Given the description of an element on the screen output the (x, y) to click on. 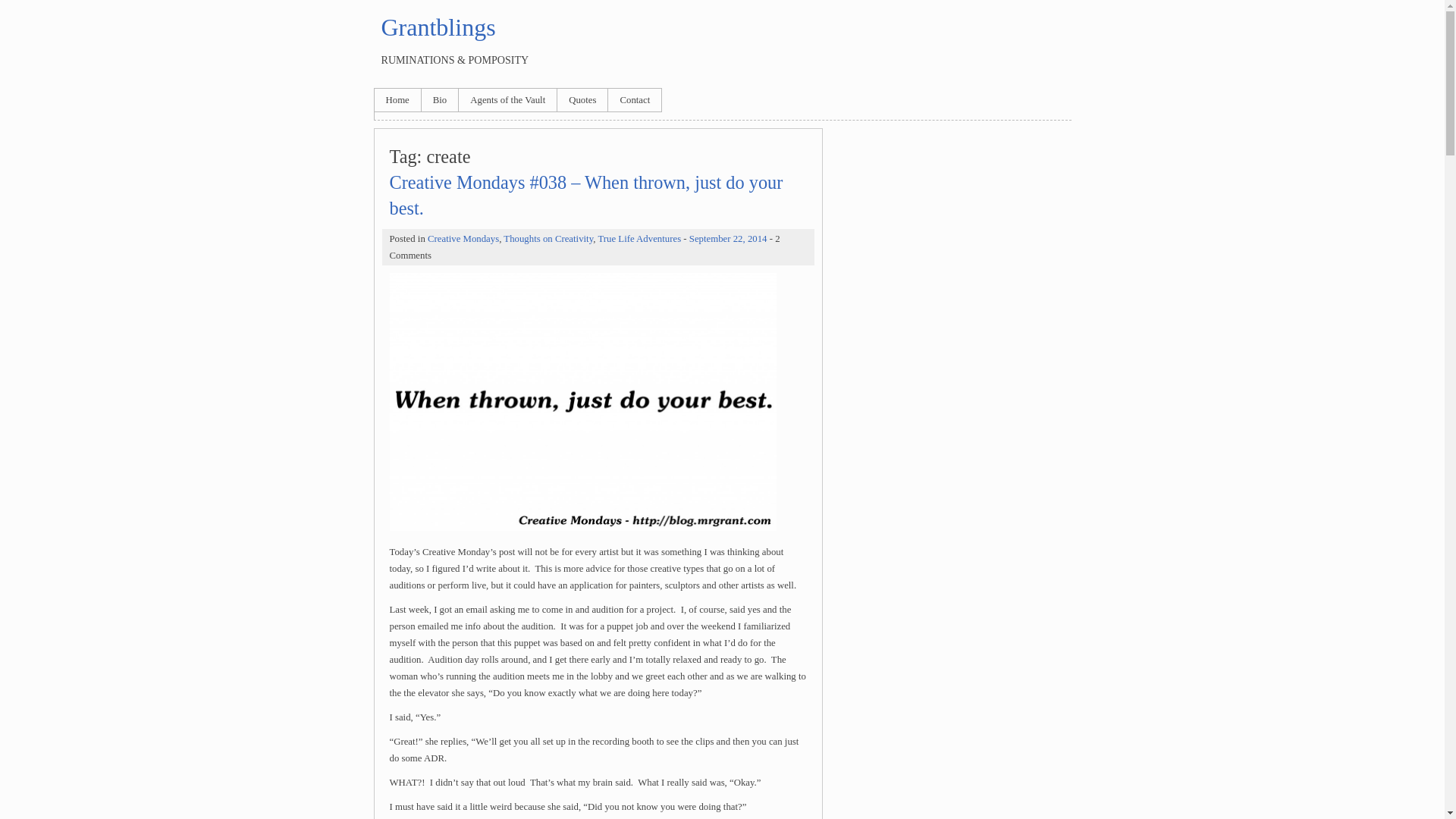
Quotes (582, 99)
True Life Adventures (638, 238)
Agents of the Vault (507, 99)
Thoughts on Creativity (547, 238)
Grantblings (437, 26)
Home (397, 99)
Contact (634, 99)
September 22, 2014 (727, 238)
Bio (440, 99)
Creative Mondays (463, 238)
